Given the description of an element on the screen output the (x, y) to click on. 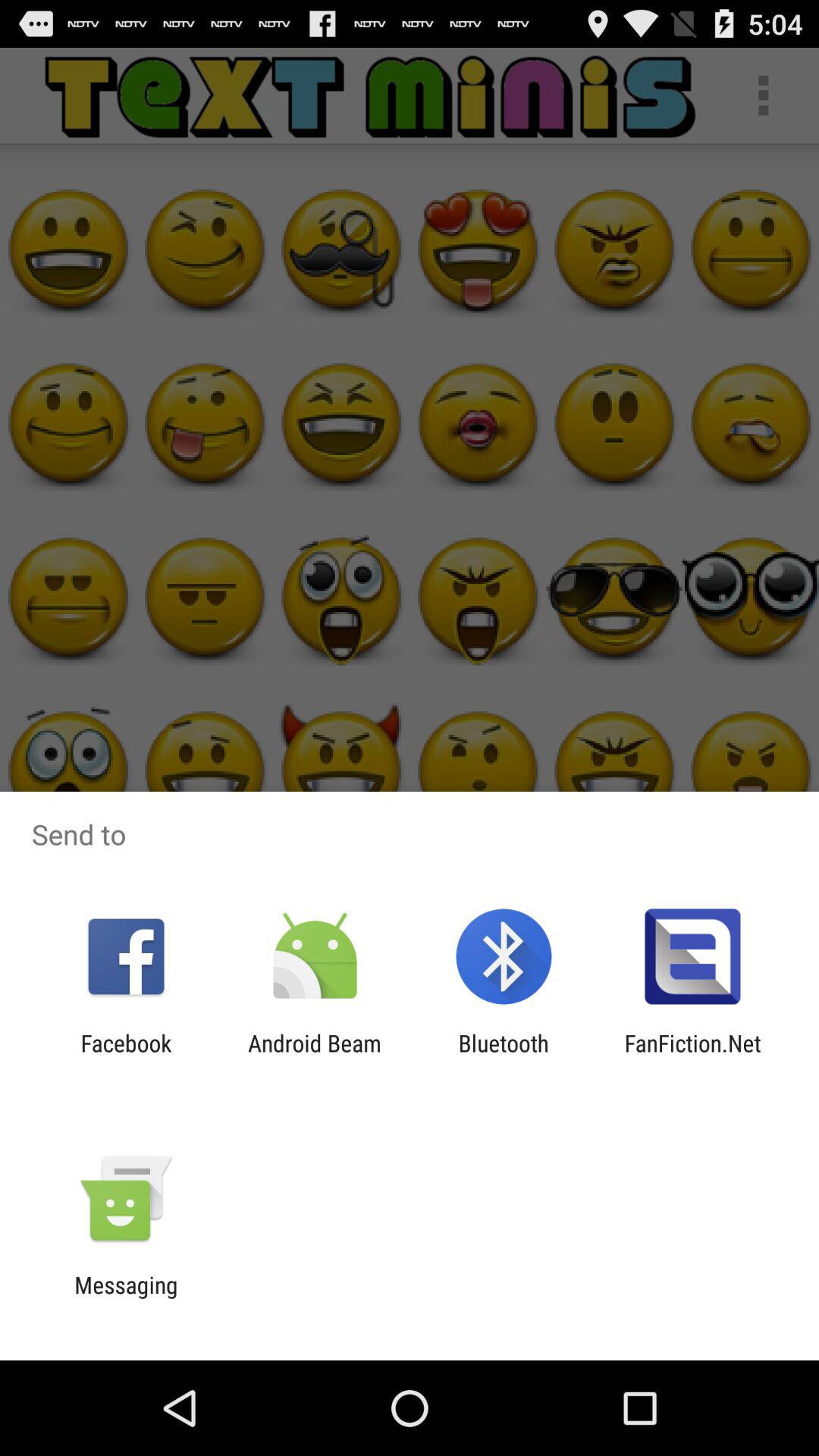
turn off app to the right of the bluetooth icon (692, 1056)
